Given the description of an element on the screen output the (x, y) to click on. 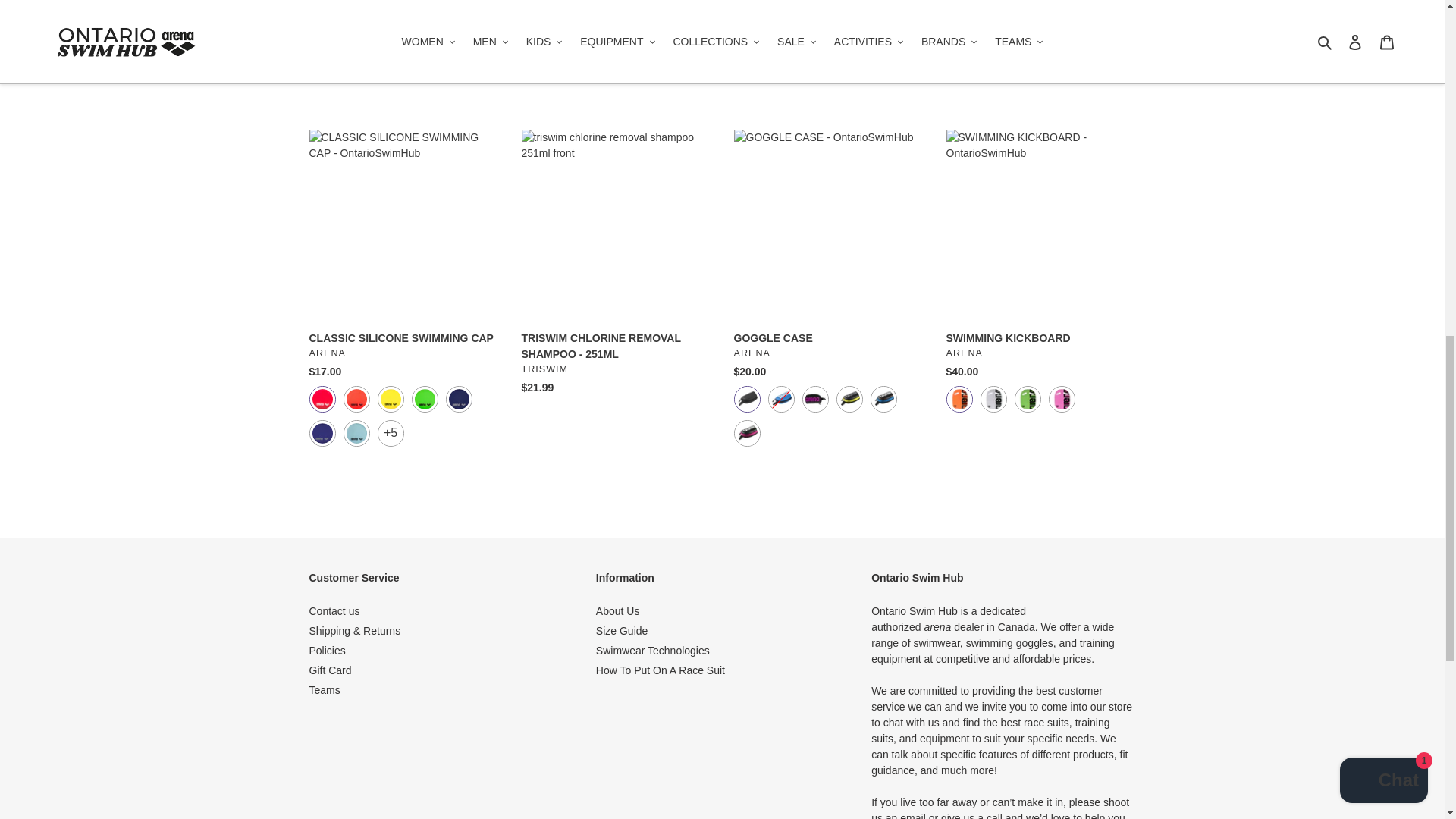
Orange (959, 398)
Silver (992, 398)
Pastel Blue (355, 433)
Green (1027, 398)
Pink (1061, 398)
